Given the description of an element on the screen output the (x, y) to click on. 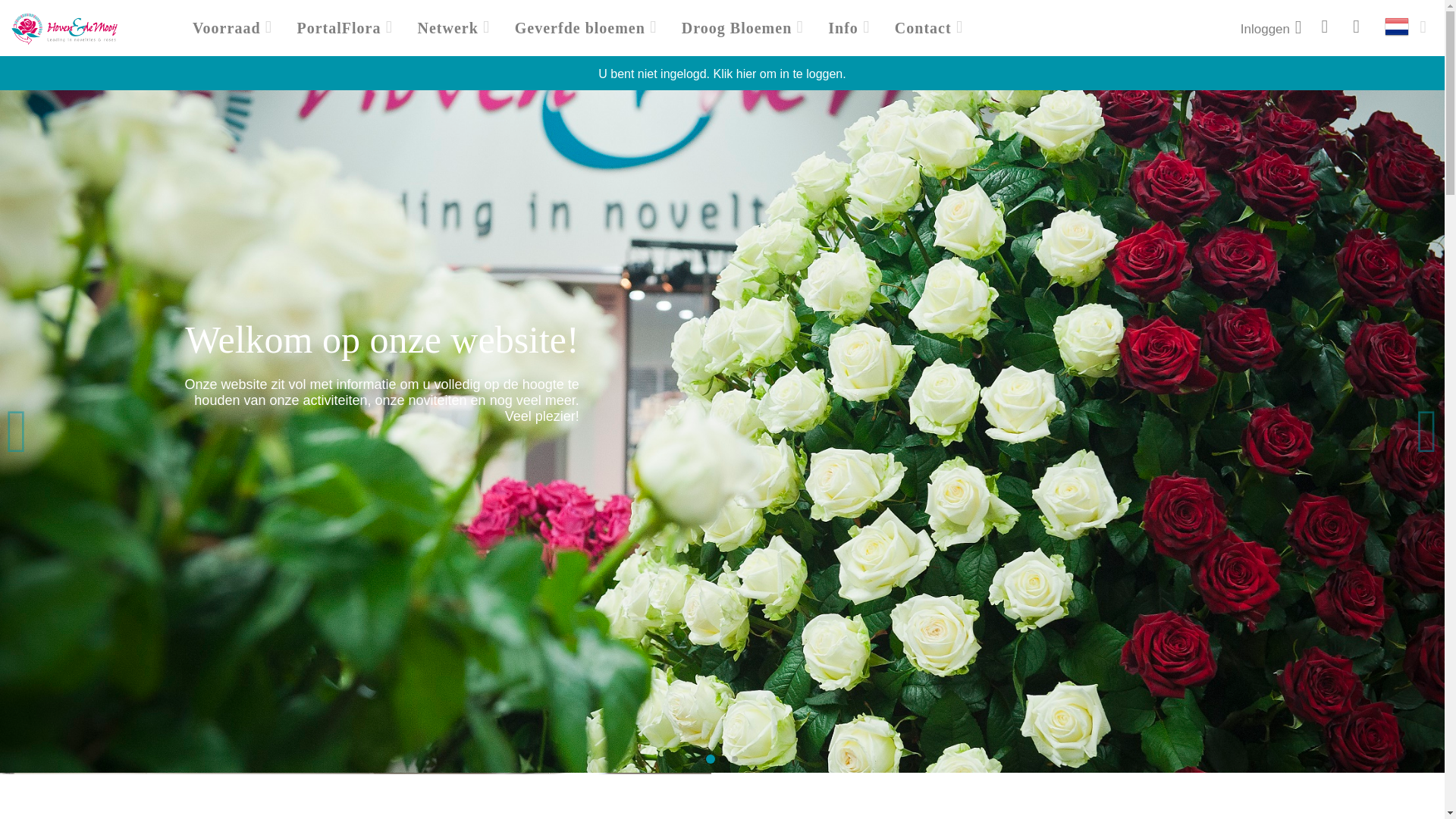
Contact (922, 26)
Droog Bloemen (736, 26)
Info (842, 26)
Inloggen   (1273, 26)
PortalFlora (339, 26)
Netwerk (446, 26)
Geverfde bloemen (580, 26)
U bent niet ingelogd. Klik hier om in te loggen. (721, 81)
Voorraad (226, 26)
